Given the description of an element on the screen output the (x, y) to click on. 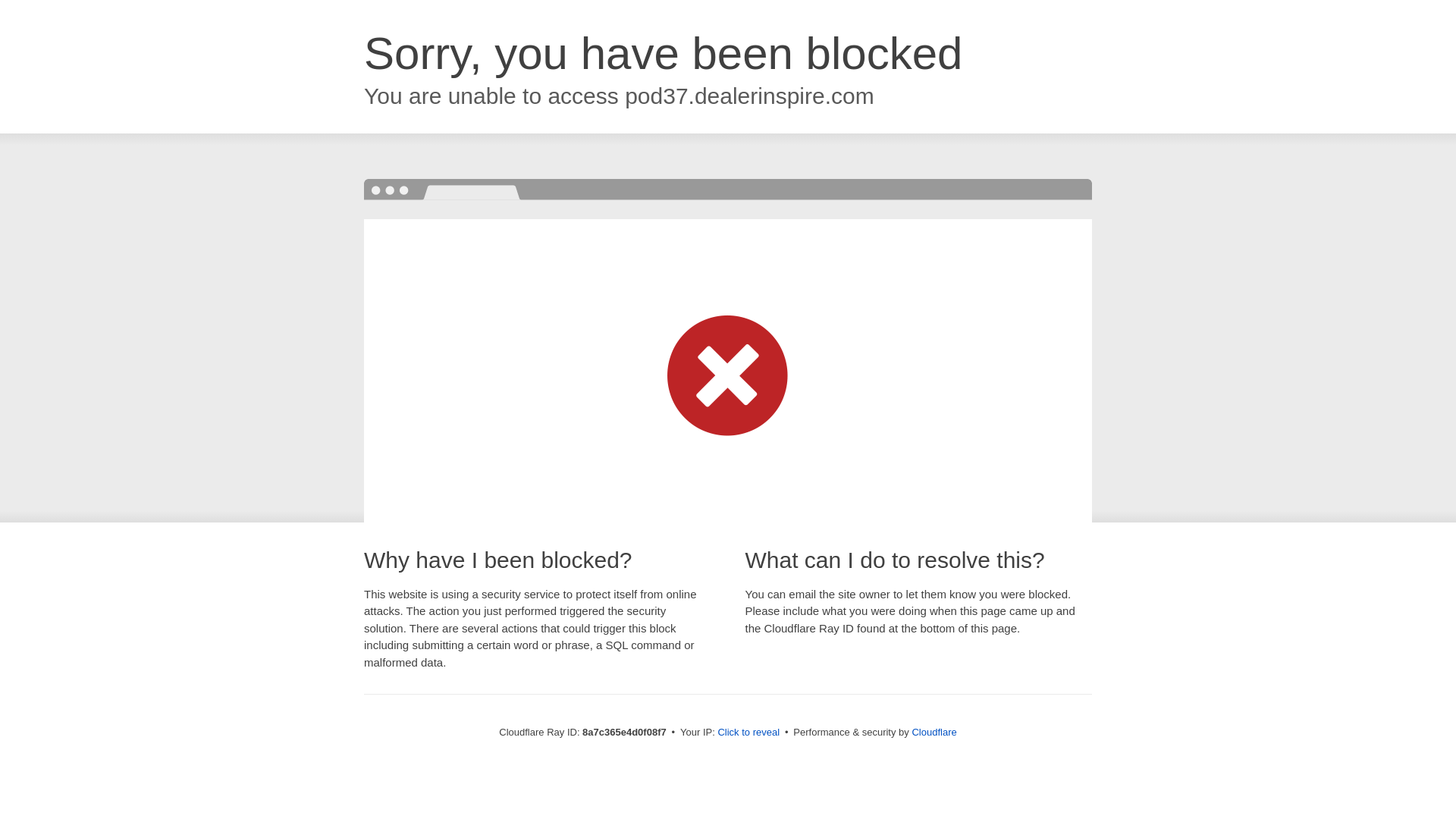
Cloudflare (933, 731)
Click to reveal (747, 732)
